Given the description of an element on the screen output the (x, y) to click on. 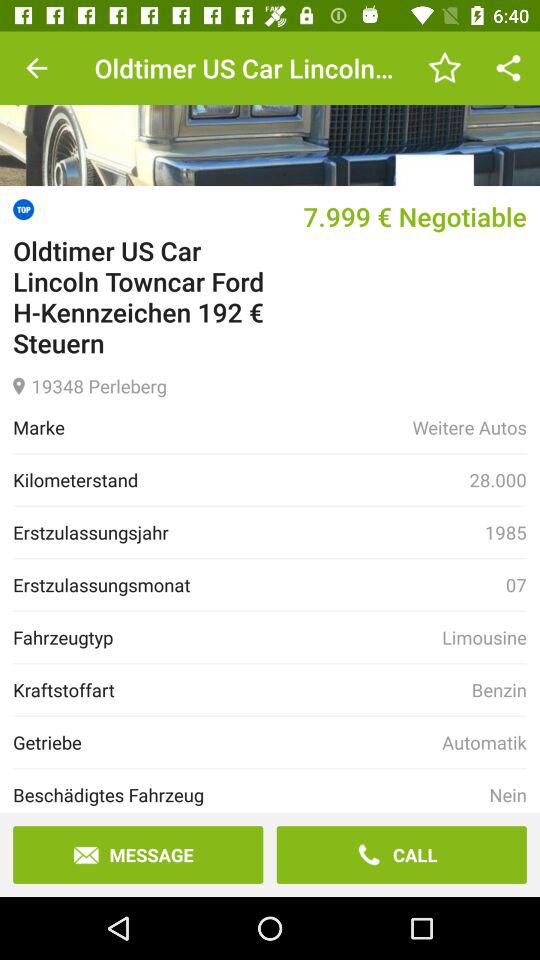
jump until the kraftstoffart (242, 689)
